Given the description of an element on the screen output the (x, y) to click on. 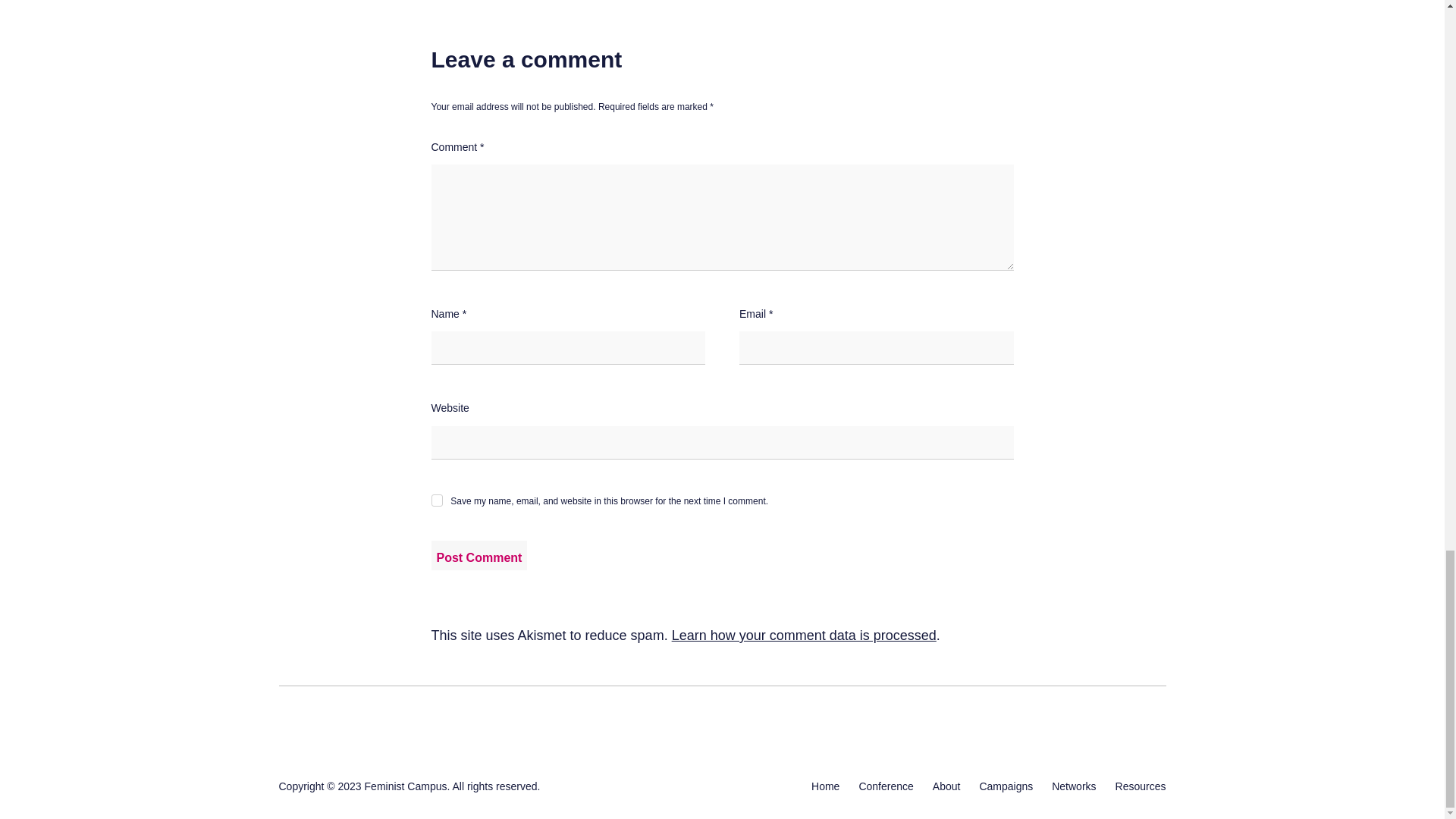
Post Comment (478, 555)
yes (436, 500)
